Given the description of an element on the screen output the (x, y) to click on. 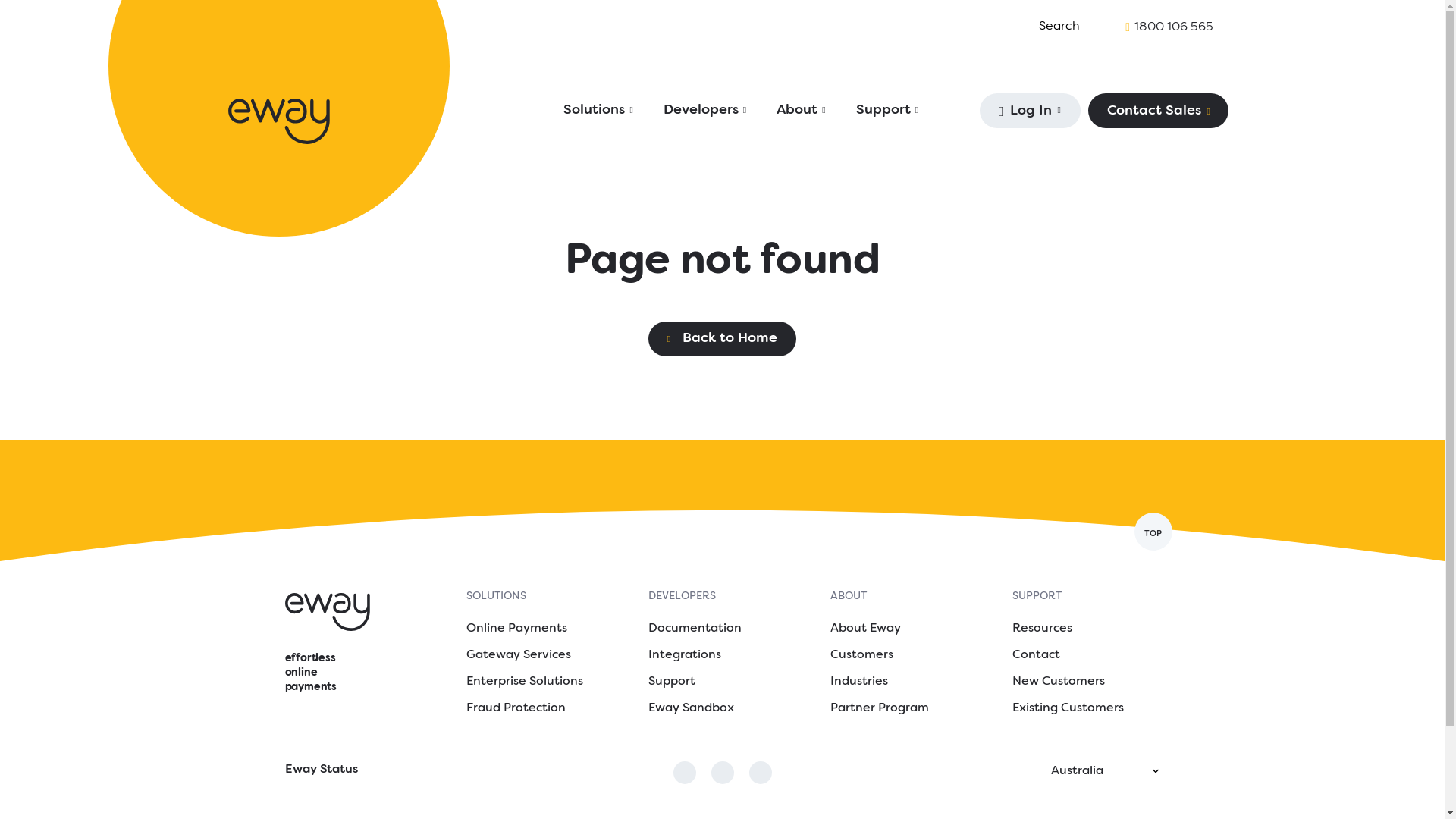
About Element type: text (801, 110)
1800 106 565 Element type: text (1172, 27)
Industries Element type: text (858, 681)
Integrations Element type: text (683, 655)
Log In Element type: text (1029, 110)
Support Element type: text (670, 681)
DEVELOPERS Element type: text (681, 596)
TOP Element type: text (1153, 531)
Contact Sales Element type: text (1158, 110)
Visit our LinkedIn profile Element type: hover (760, 772)
Support Element type: text (887, 110)
Fraud Protection Element type: text (514, 708)
Gateway Services Element type: text (517, 655)
About Eway Element type: text (864, 628)
Developers Element type: text (705, 110)
Eway Sandbox Element type: text (690, 708)
Eway Status Element type: text (421, 769)
Customers Element type: text (860, 655)
Back to Home Element type: text (722, 338)
Existing Customers Element type: text (1067, 708)
Partner Program Element type: text (878, 708)
Visit our Facebook profile Element type: hover (684, 772)
Enterprise Solutions Element type: text (523, 681)
Search Element type: text (1034, 27)
Visit our Twitter profile Element type: hover (722, 772)
Contact Element type: text (1035, 655)
SOLUTIONS Element type: text (495, 596)
New Customers Element type: text (1057, 681)
Documentation Element type: text (693, 628)
Resources Element type: text (1041, 628)
Online Payments Element type: text (515, 628)
SUPPORT Element type: text (1035, 596)
Solutions Element type: text (598, 110)
ABOUT Element type: text (847, 596)
